Given the description of an element on the screen output the (x, y) to click on. 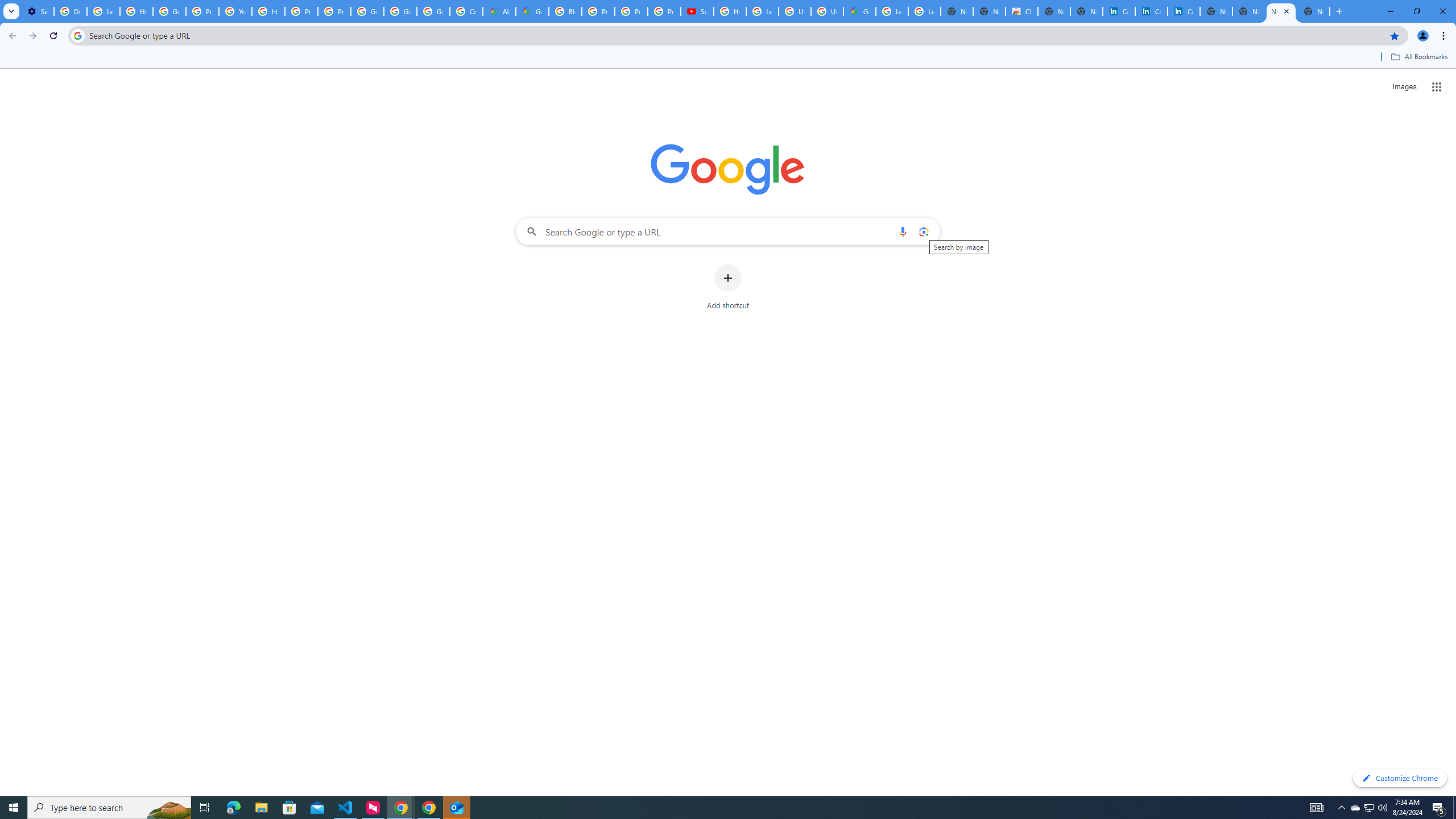
Settings - Customize profile (37, 11)
Create your Google Account (465, 11)
https://scholar.google.com/ (268, 11)
Copyright Policy (1183, 11)
Google Maps (532, 11)
Chrome Web Store (1021, 11)
